Given the description of an element on the screen output the (x, y) to click on. 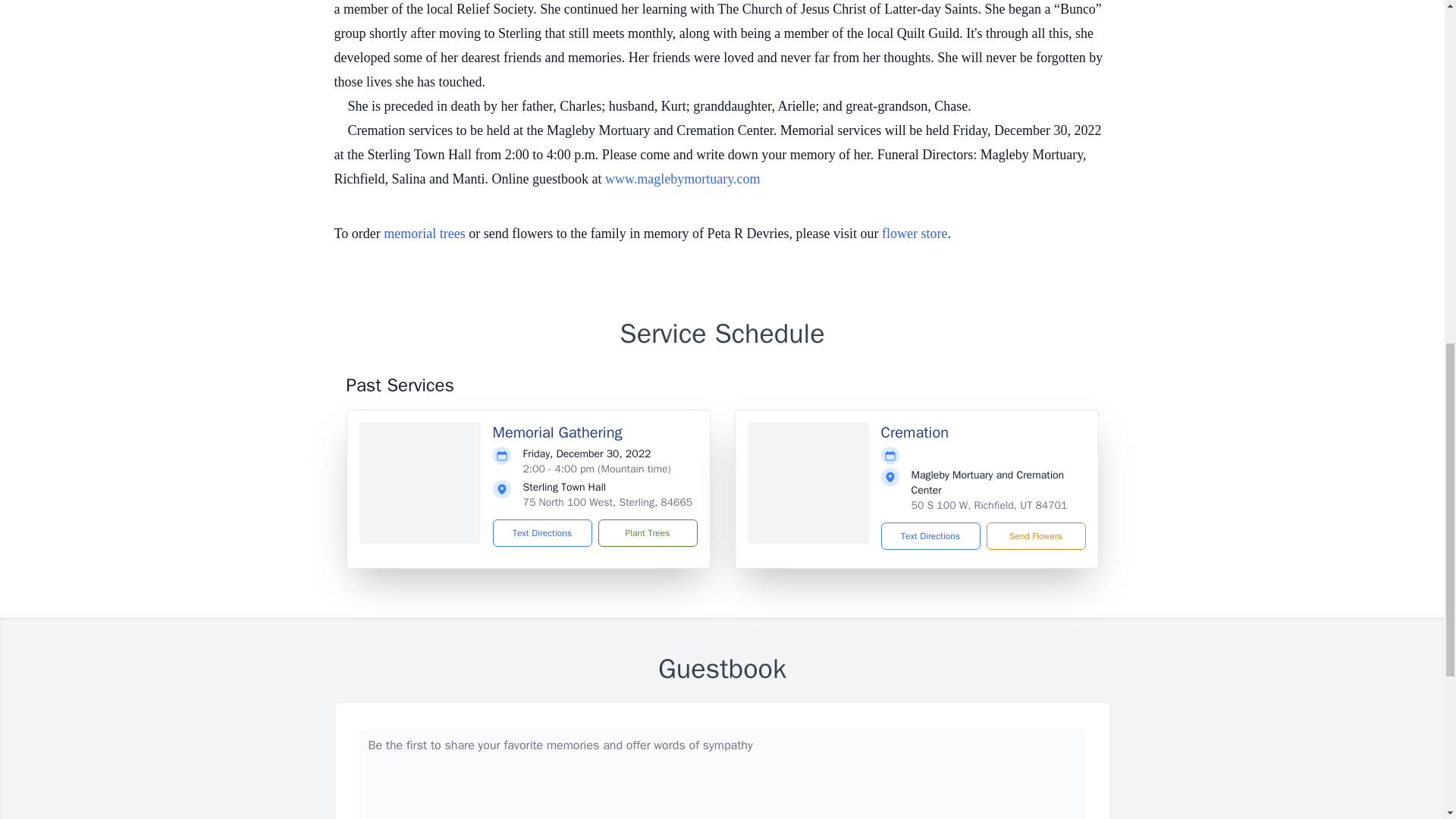
Text Directions (929, 535)
memorial trees (424, 233)
flower store (914, 233)
50 S 100 W, Richfield, UT 84701 (989, 504)
Text Directions (542, 533)
www.maglebymortuary.com (682, 178)
75 North 100 West, Sterling, 84665 (607, 502)
Send Flowers (1034, 535)
Plant Trees (646, 533)
